Given the description of an element on the screen output the (x, y) to click on. 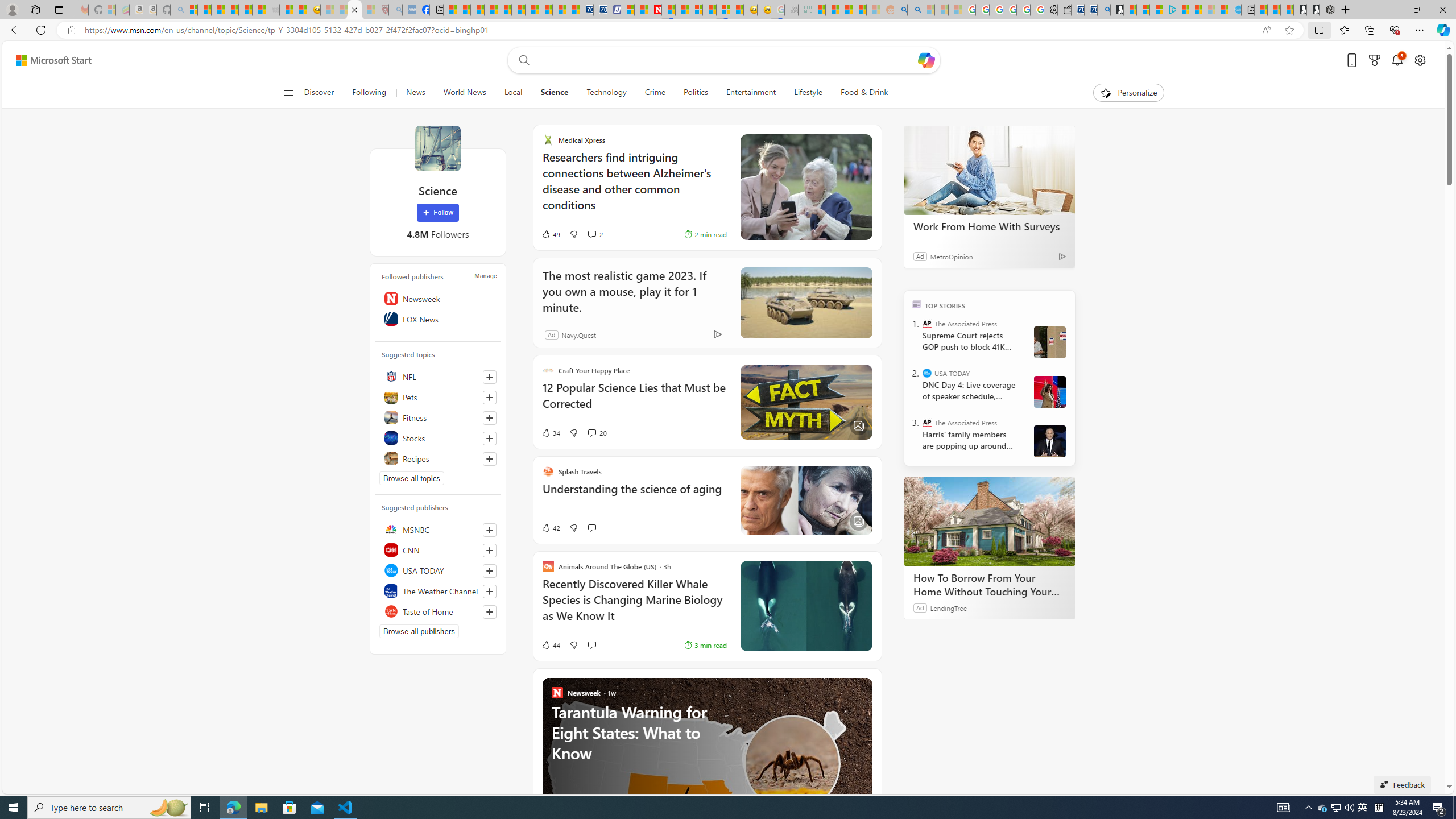
12 Popular Science Lies that Must be Corrected - Sleeping (368, 9)
Wallet (1063, 9)
